Given the description of an element on the screen output the (x, y) to click on. 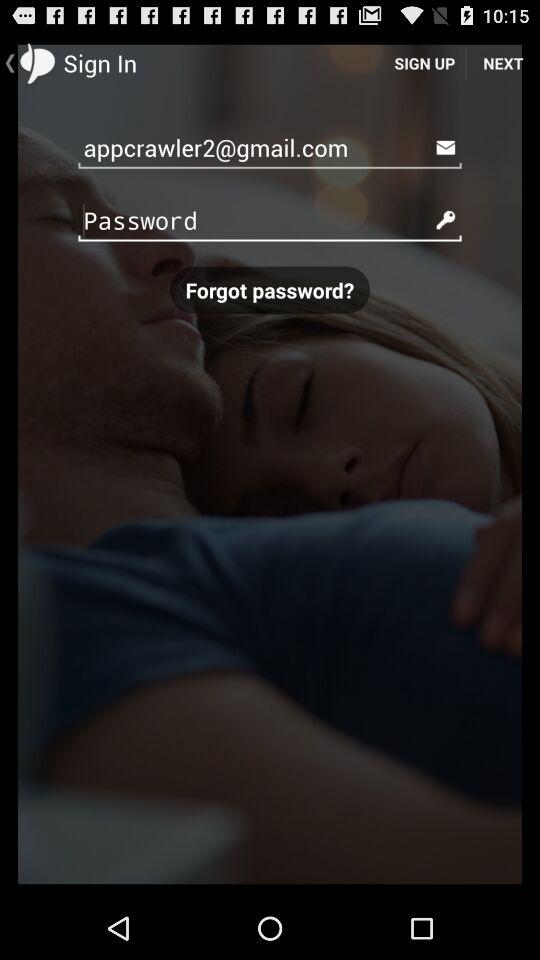
turn off forgot password? item (269, 289)
